Given the description of an element on the screen output the (x, y) to click on. 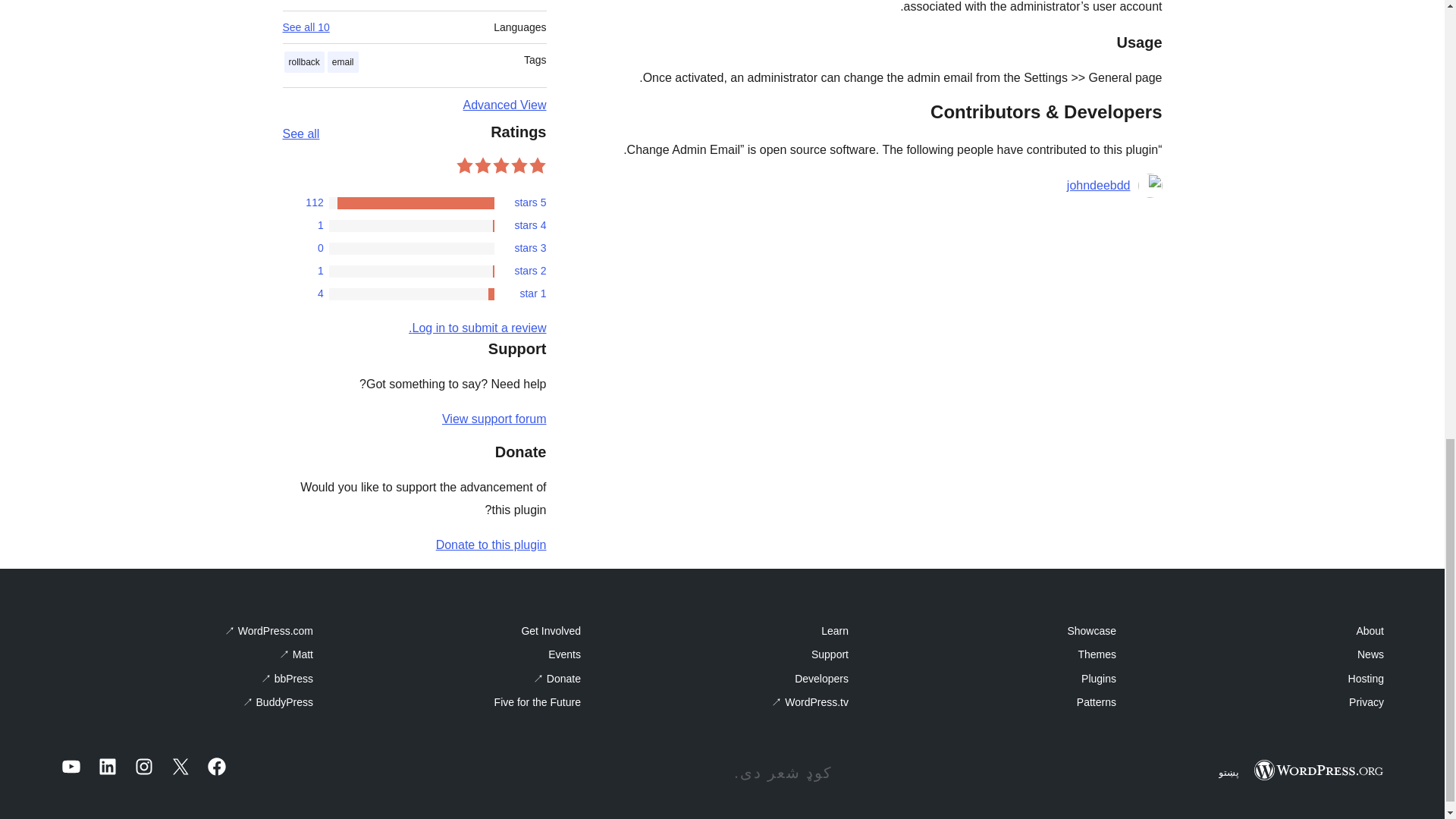
WordPress.org (1318, 770)
Log in to WordPress.org (477, 327)
